Given the description of an element on the screen output the (x, y) to click on. 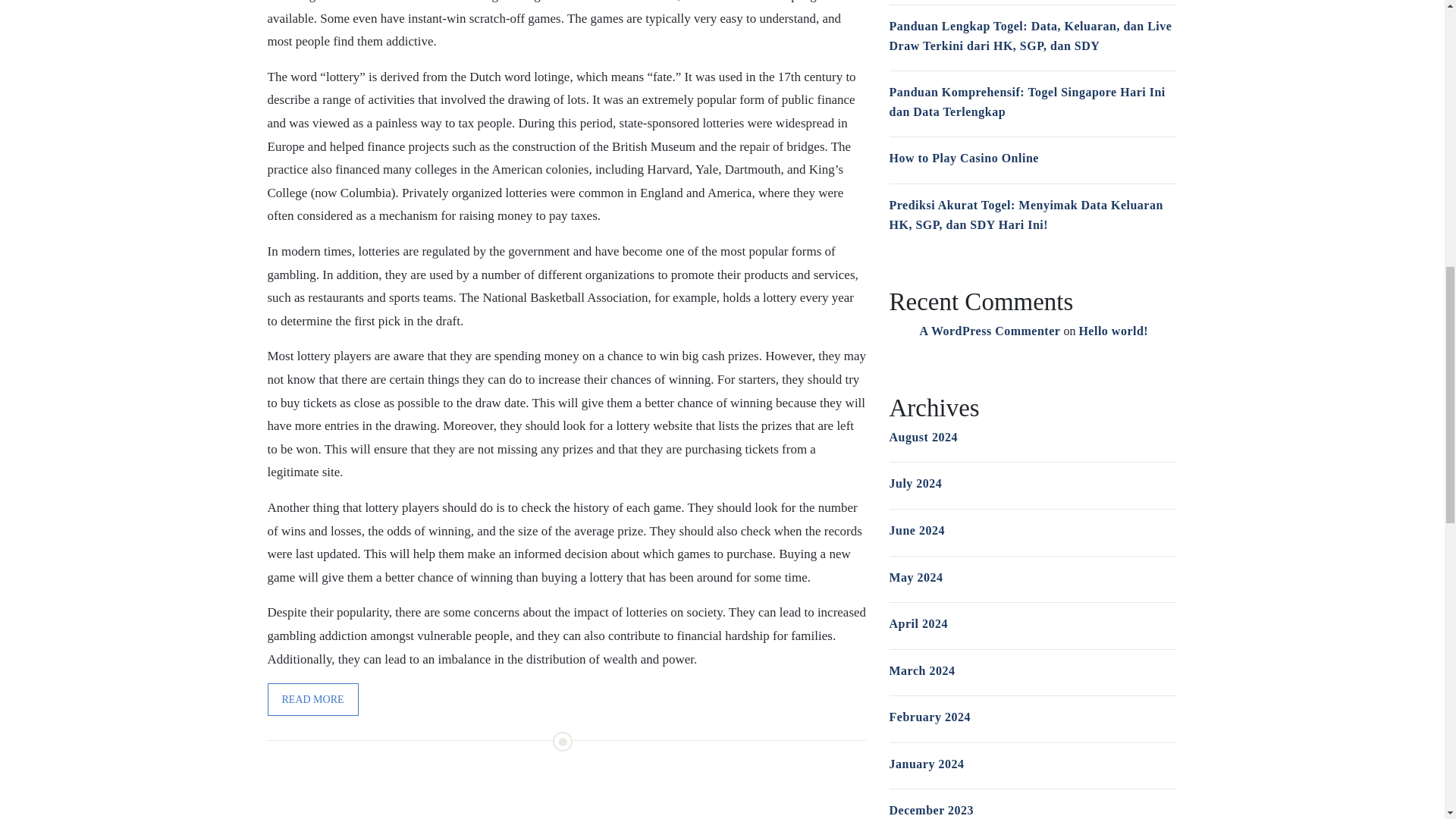
April 2024 (917, 623)
August 2024 (922, 436)
A WordPress Commenter (988, 330)
How to Play Casino Online (963, 157)
data macau (458, 1)
June 2024 (915, 530)
December 2023 (931, 809)
Hello world! (1113, 330)
